Given the description of an element on the screen output the (x, y) to click on. 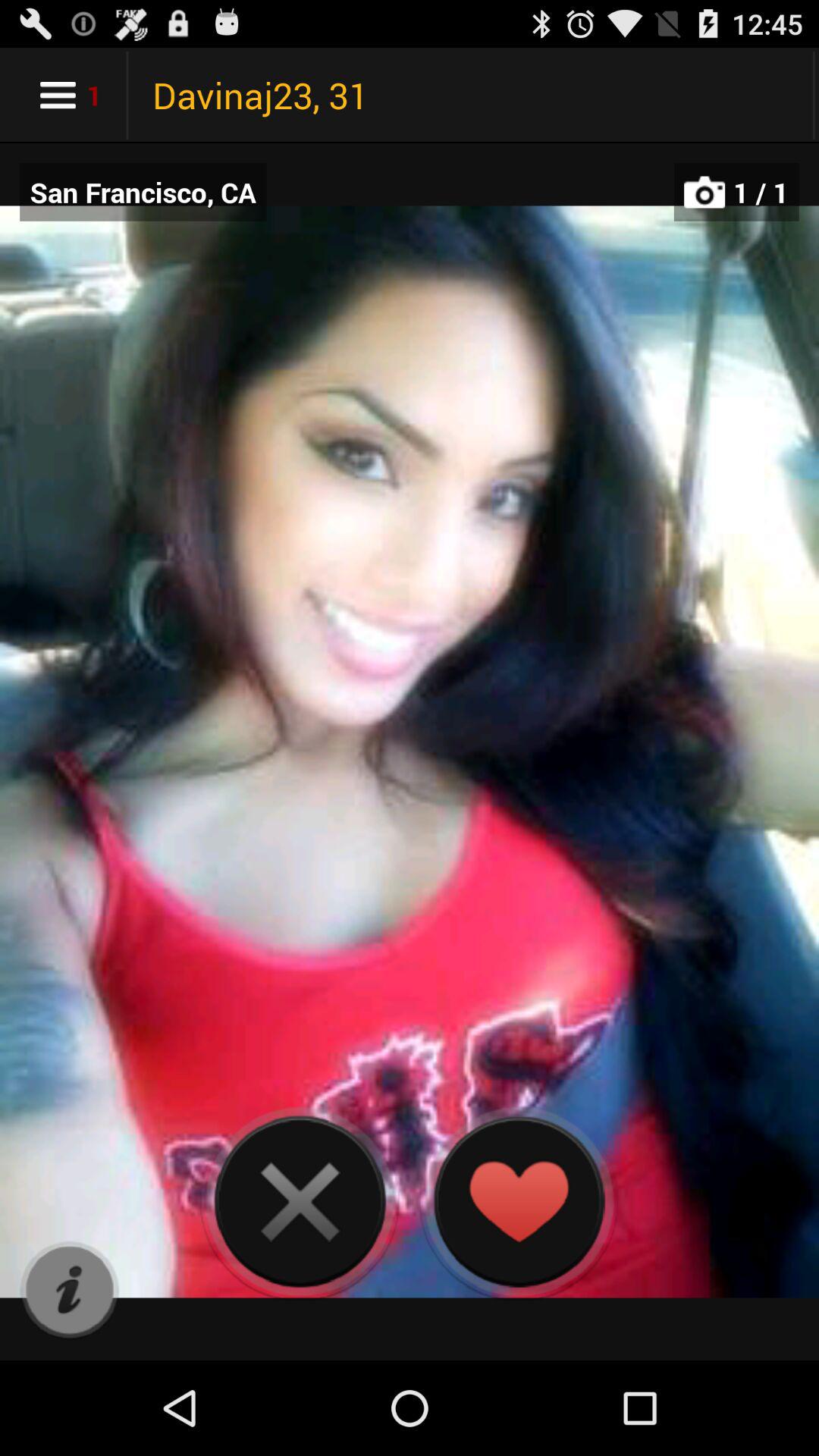
like the post (518, 1200)
